Given the description of an element on the screen output the (x, y) to click on. 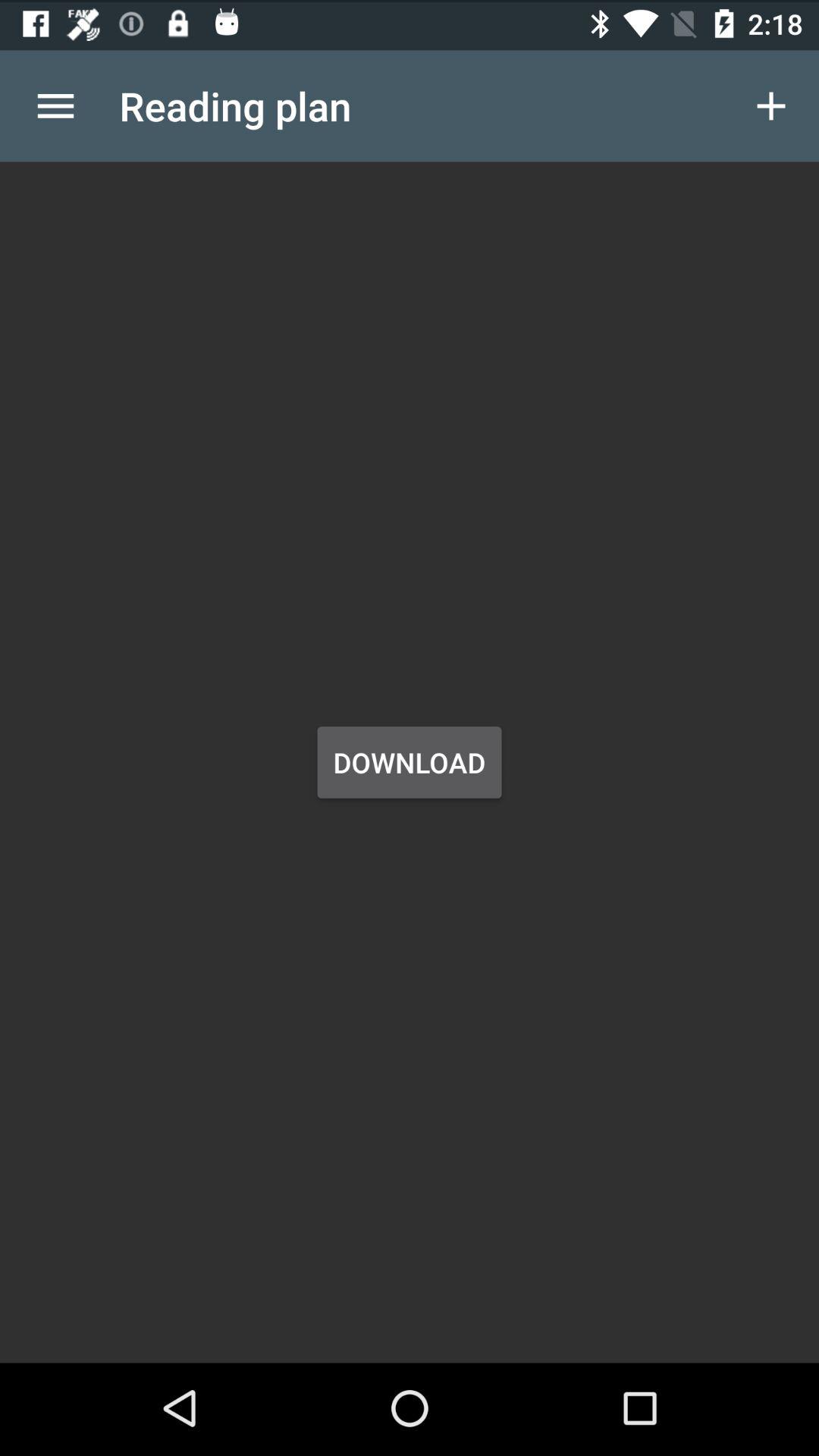
launch item next to reading plan icon (55, 103)
